Given the description of an element on the screen output the (x, y) to click on. 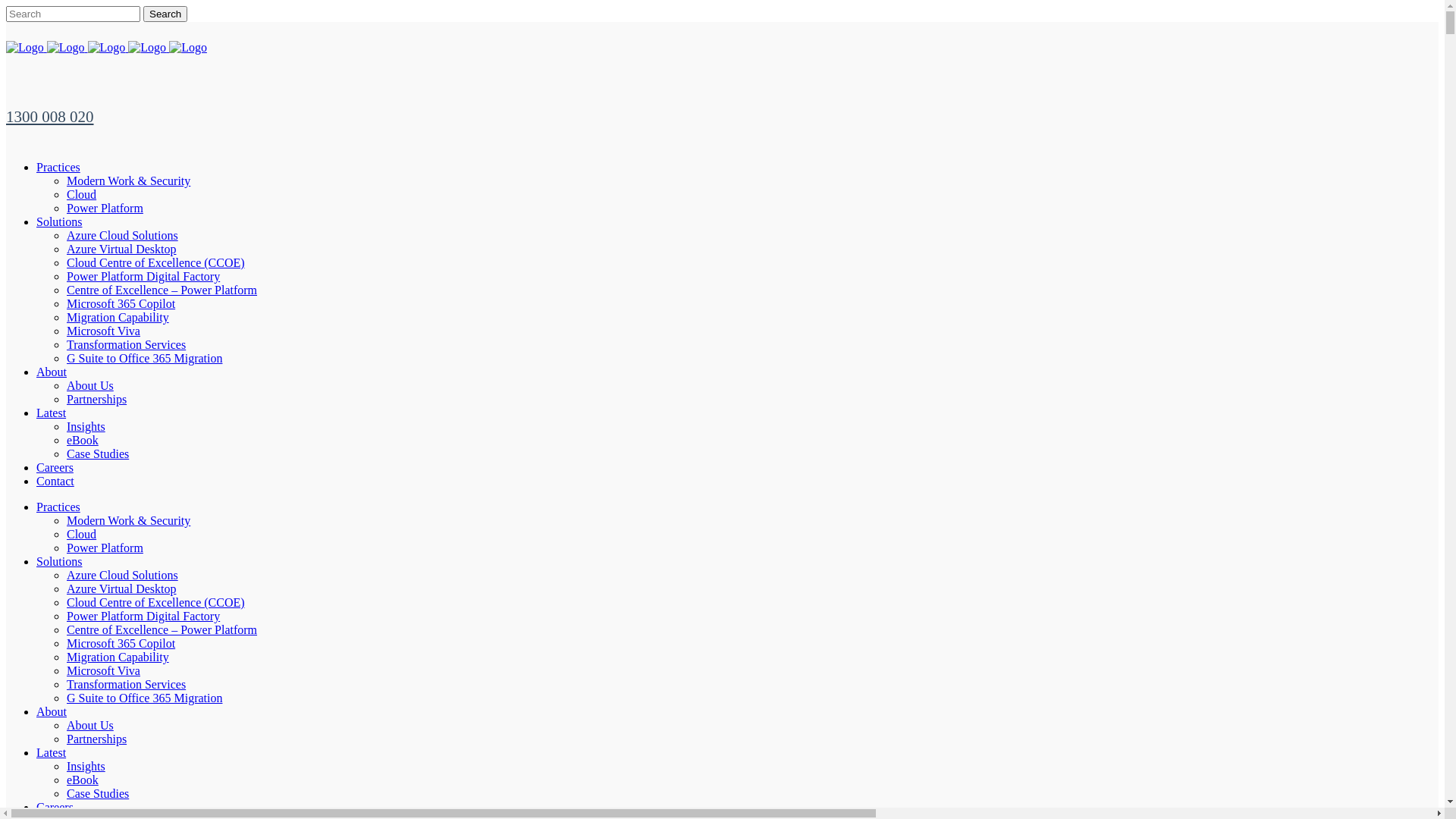
Contact Element type: text (55, 480)
Cloud Element type: text (81, 533)
Modern Work & Security Element type: text (128, 520)
Solutions Element type: text (58, 561)
Careers Element type: text (54, 467)
Cloud Element type: text (81, 194)
1300 008 020 Element type: text (50, 116)
Latest Element type: text (50, 412)
Migration Capability Element type: text (117, 316)
eBook Element type: text (82, 439)
Partnerships Element type: text (96, 738)
Microsoft 365 Copilot Element type: text (120, 643)
Partnerships Element type: text (96, 398)
Power Platform Element type: text (104, 547)
Insights Element type: text (85, 765)
G Suite to Office 365 Migration Element type: text (144, 697)
Cloud Centre of Excellence (CCOE) Element type: text (155, 262)
About Element type: text (51, 711)
Microsoft Viva Element type: text (103, 330)
Modern Work & Security Element type: text (128, 180)
Case Studies Element type: text (97, 453)
Careers Element type: text (54, 806)
eBook Element type: text (82, 779)
Case Studies Element type: text (97, 793)
Insights Element type: text (85, 426)
G Suite to Office 365 Migration Element type: text (144, 357)
Azure Cloud Solutions Element type: text (122, 574)
Latest Element type: text (50, 752)
Cloud Centre of Excellence (CCOE) Element type: text (155, 602)
Transformation Services Element type: text (125, 344)
Solutions Element type: text (58, 221)
Microsoft Viva Element type: text (103, 670)
Azure Cloud Solutions Element type: text (122, 235)
Migration Capability Element type: text (117, 656)
Azure Virtual Desktop Element type: text (120, 248)
About Us Element type: text (89, 385)
Practices Element type: text (58, 506)
About Element type: text (51, 371)
Power Platform Digital Factory Element type: text (142, 275)
Transformation Services Element type: text (125, 683)
Practices Element type: text (58, 166)
Azure Virtual Desktop Element type: text (120, 588)
About Us Element type: text (89, 724)
Microsoft 365 Copilot Element type: text (120, 303)
Search Element type: text (165, 13)
Power Platform Element type: text (104, 207)
Power Platform Digital Factory Element type: text (142, 615)
